Given the description of an element on the screen output the (x, y) to click on. 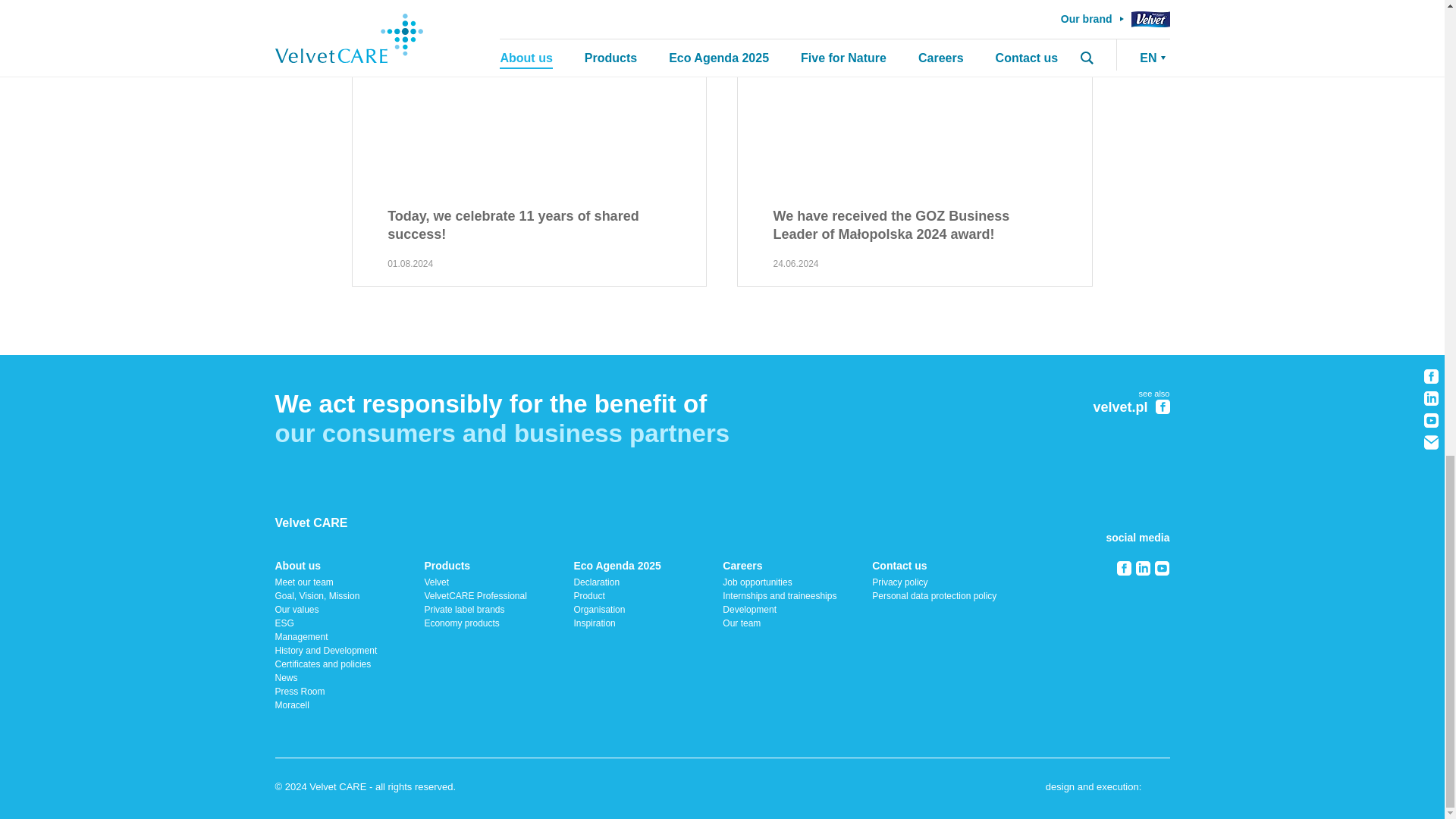
Facebook (1123, 568)
Linkedin (1142, 568)
agencja interaktywna zjednoczenie.com (1158, 788)
Facebook Velvet (1163, 406)
Youtube (1161, 568)
